Given the description of an element on the screen output the (x, y) to click on. 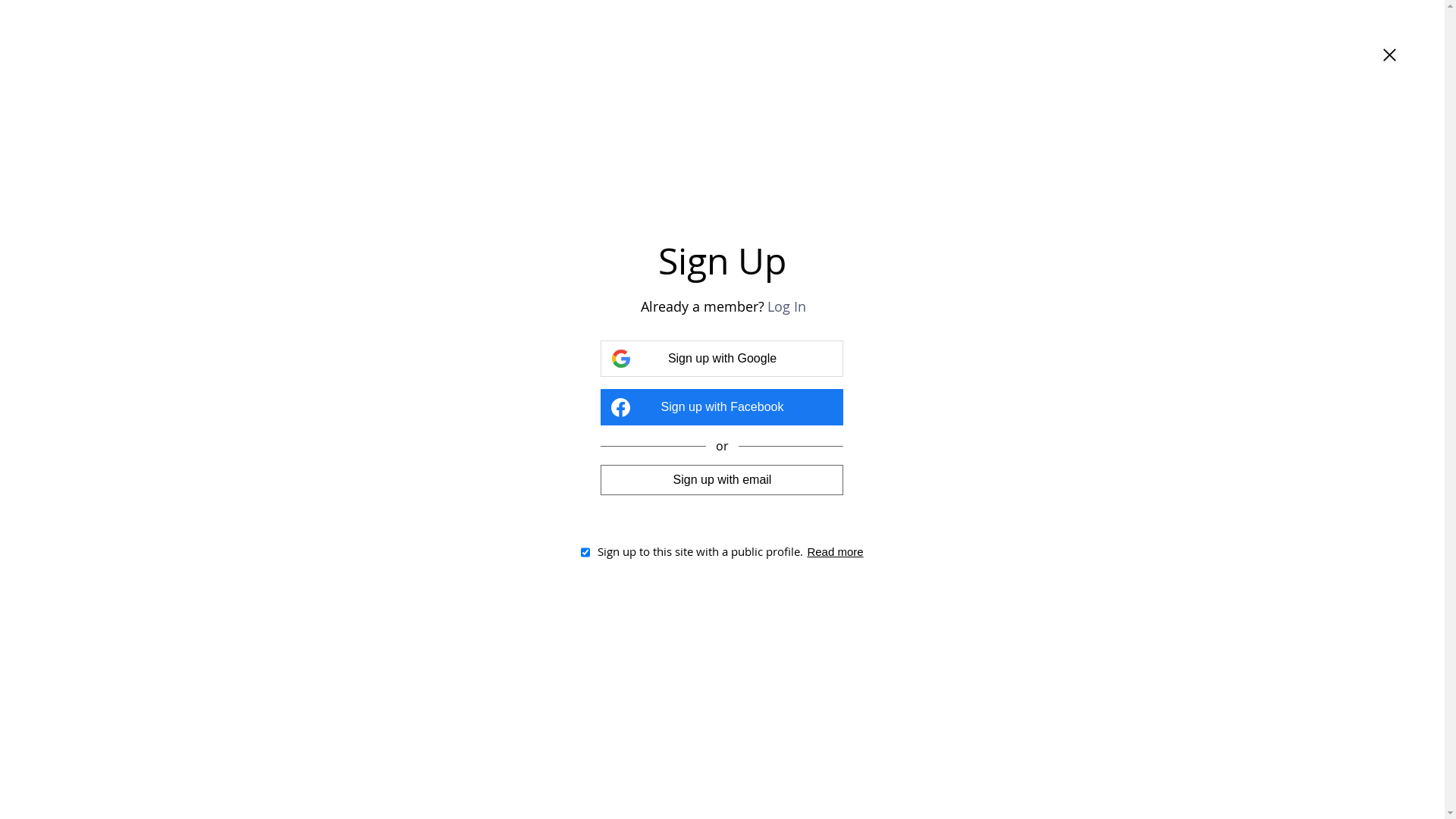
Sign up with Google Element type: text (721, 358)
Sign up with email Element type: text (721, 479)
Read more Element type: text (834, 551)
Sign up with Facebook Element type: text (721, 407)
Log In Element type: text (786, 306)
